Given the description of an element on the screen output the (x, y) to click on. 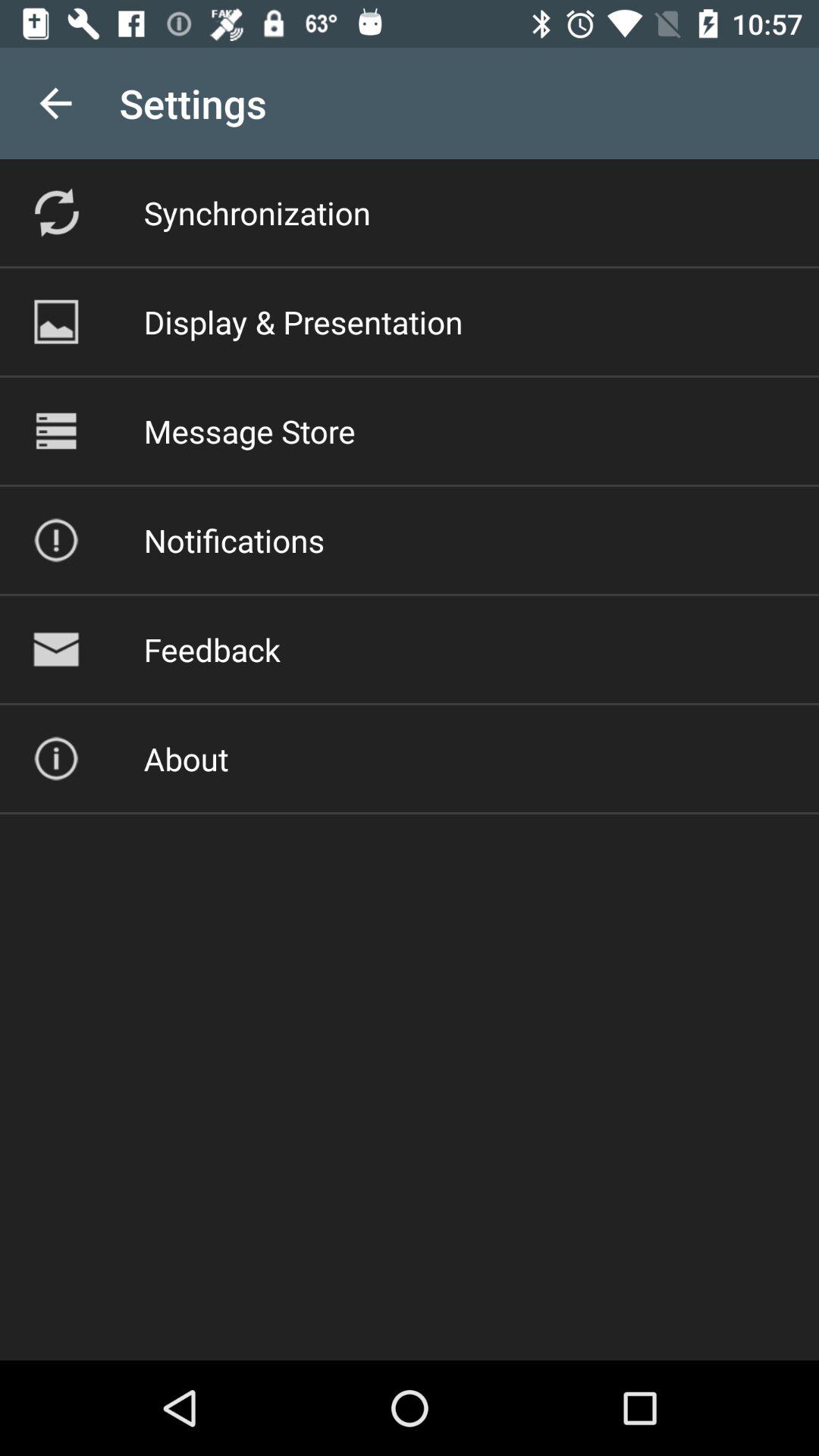
press the icon above notifications icon (249, 430)
